Given the description of an element on the screen output the (x, y) to click on. 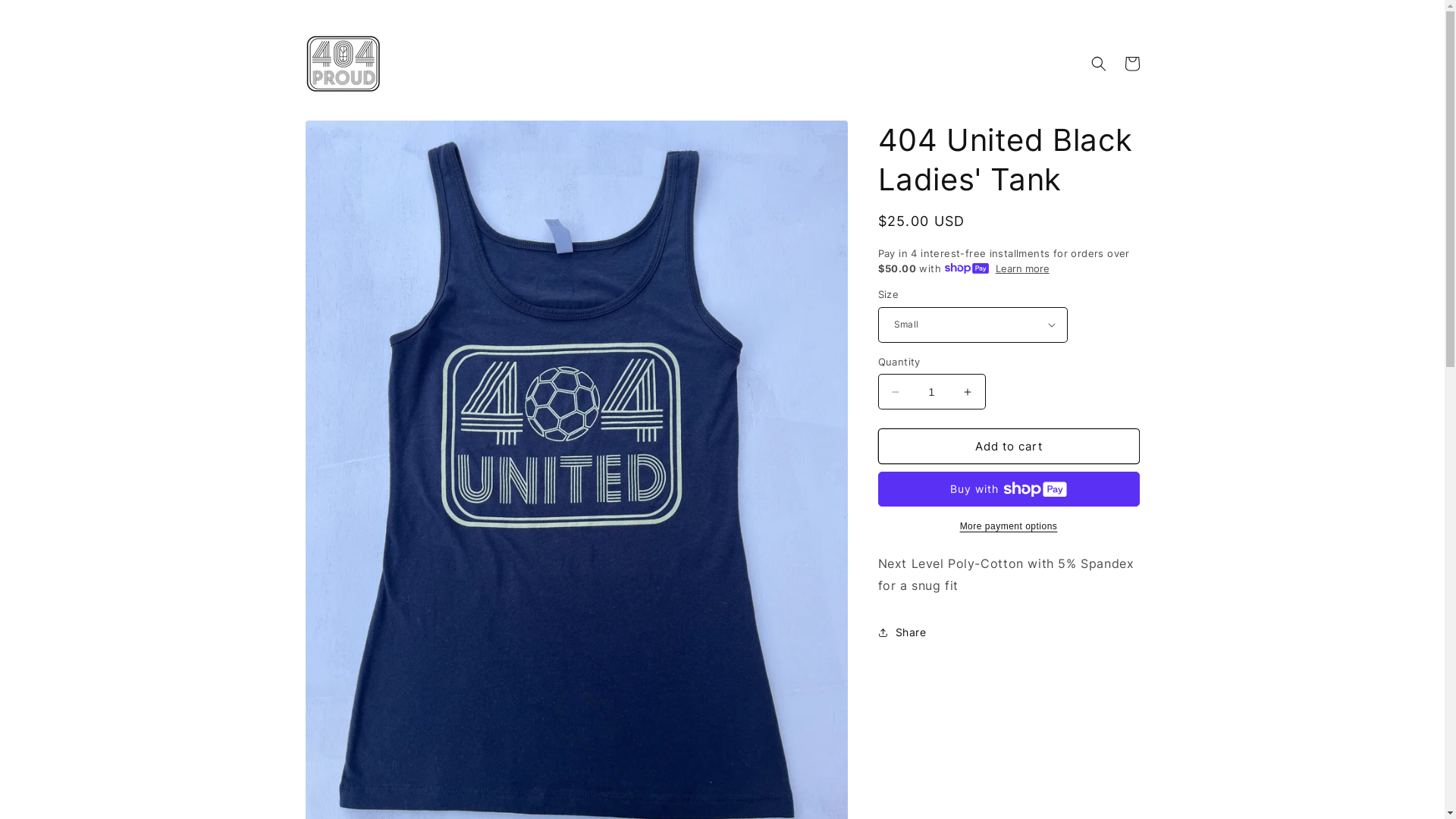
Add to cart Element type: text (1008, 446)
Cart Element type: text (1131, 63)
https://404proud.com/products/404-united-black-ladies-tank Element type: text (968, 689)
Skip to product information Element type: text (350, 137)
Increase quantity for 404 United Black Ladies&#39; Tank Element type: text (967, 391)
Decrease quantity for 404 United Black Ladies&#39; Tank Element type: text (895, 391)
More payment options Element type: text (1008, 525)
